Given the description of an element on the screen output the (x, y) to click on. 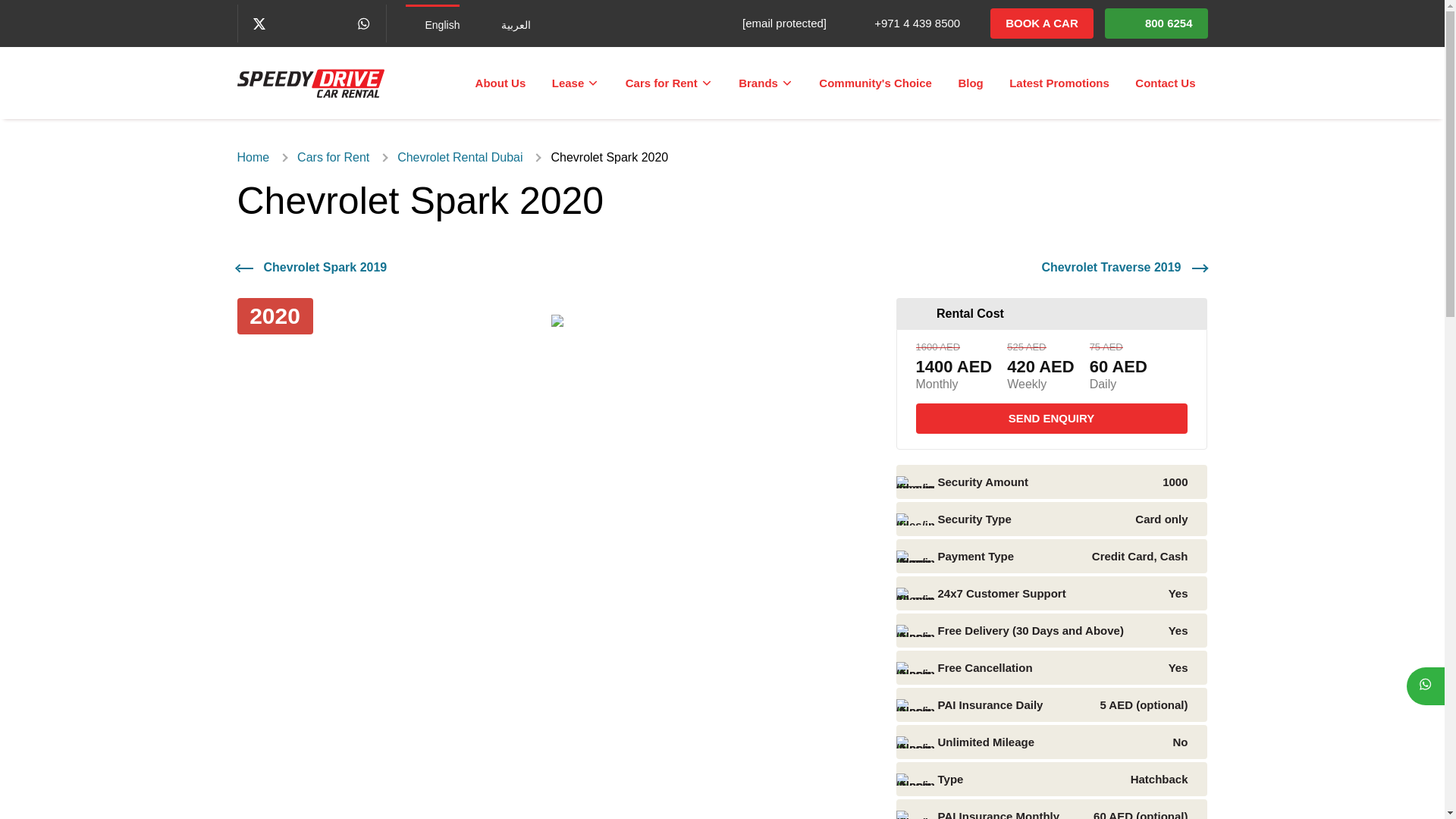
Brands (765, 82)
Linkedin  (307, 23)
Cars for Rent (669, 82)
  800 6254 (1156, 23)
  English (432, 24)
Instagram  (334, 23)
About Us (500, 82)
BOOK A CAR (1041, 23)
Lease (575, 82)
